Given the description of an element on the screen output the (x, y) to click on. 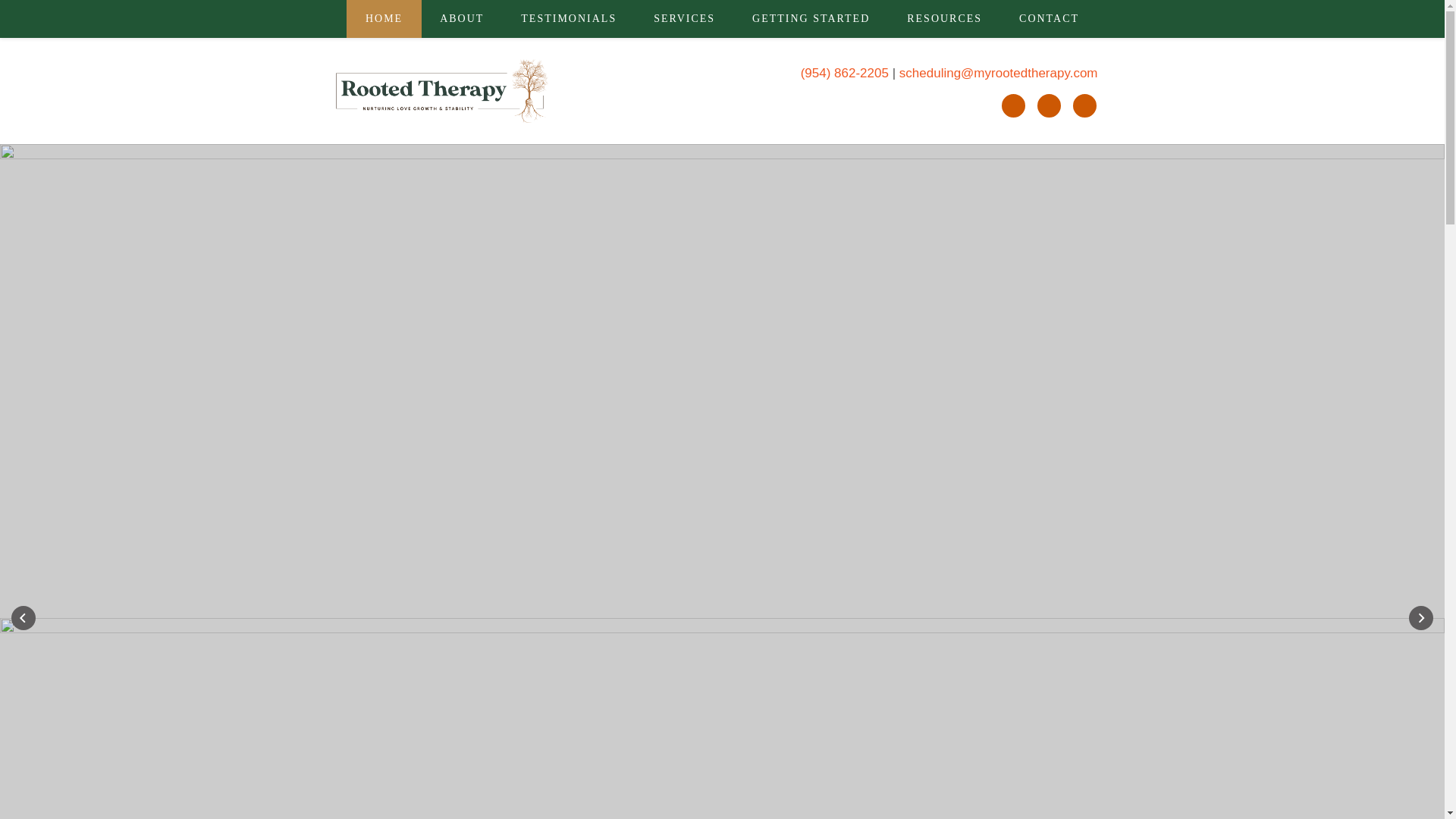
HOME (383, 18)
TESTIMONIALS (568, 18)
GETTING STARTED (810, 18)
ABOUT (462, 18)
SERVICES (683, 18)
RESOURCES (944, 18)
CONTACT (1049, 18)
